Given the description of an element on the screen output the (x, y) to click on. 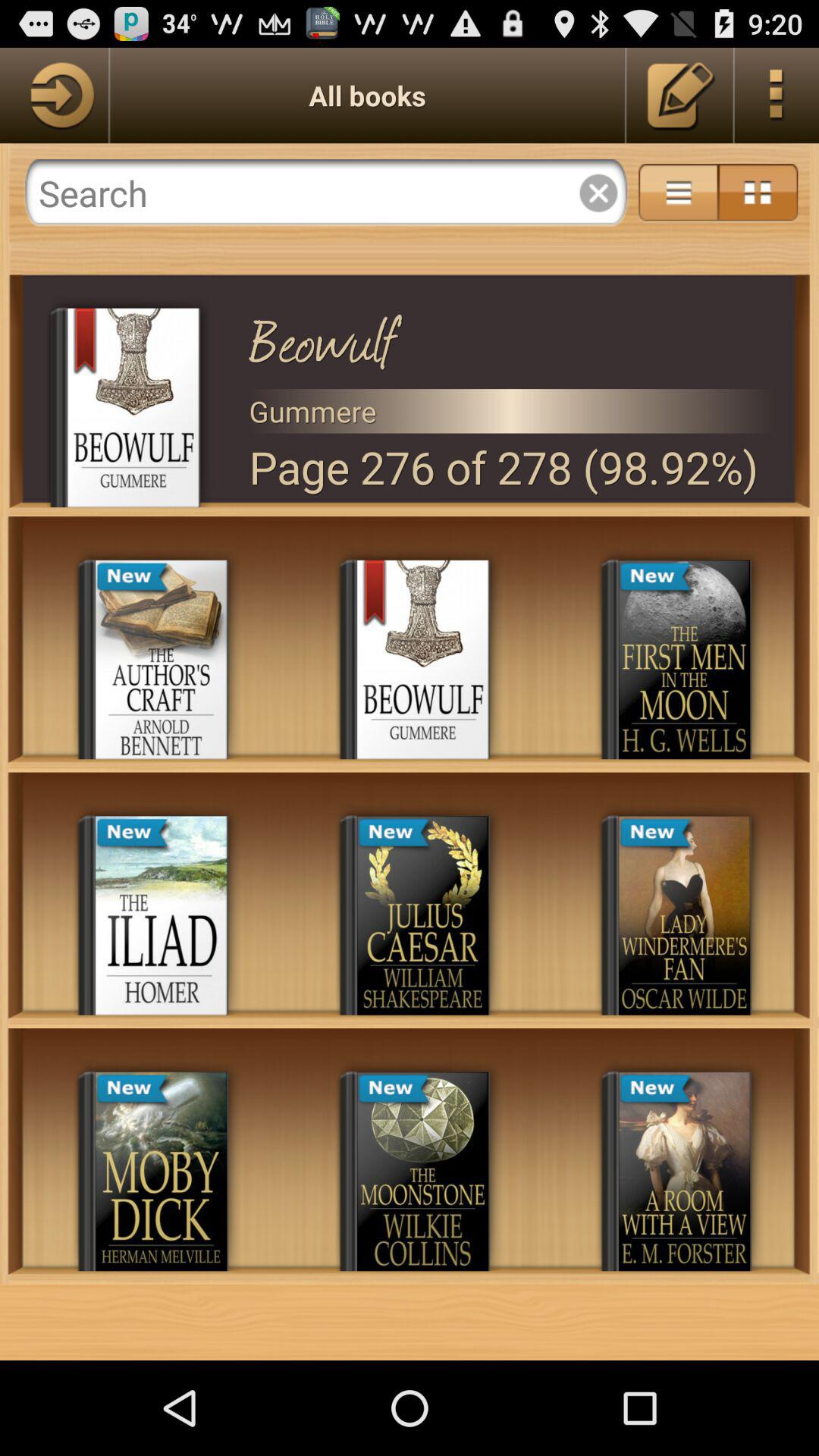
option to open other menu items (776, 95)
